Given the description of an element on the screen output the (x, y) to click on. 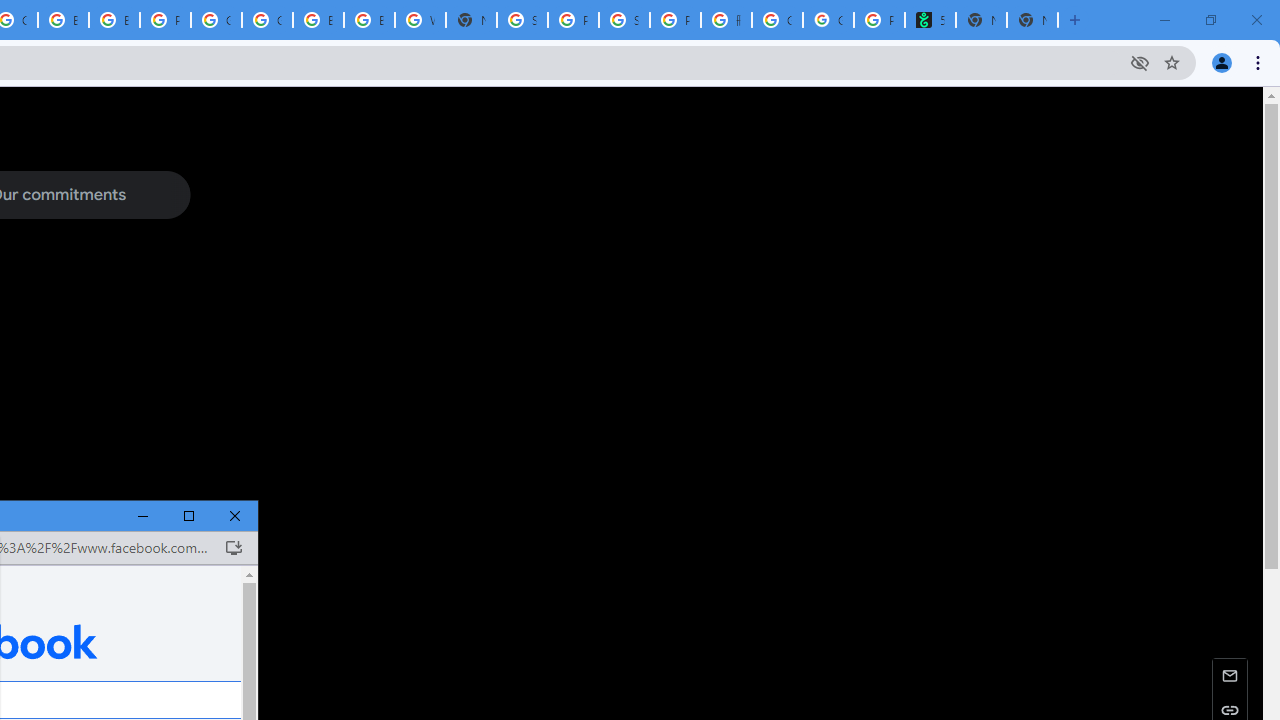
Maximize (189, 516)
Install Facebook (233, 547)
